Given the description of an element on the screen output the (x, y) to click on. 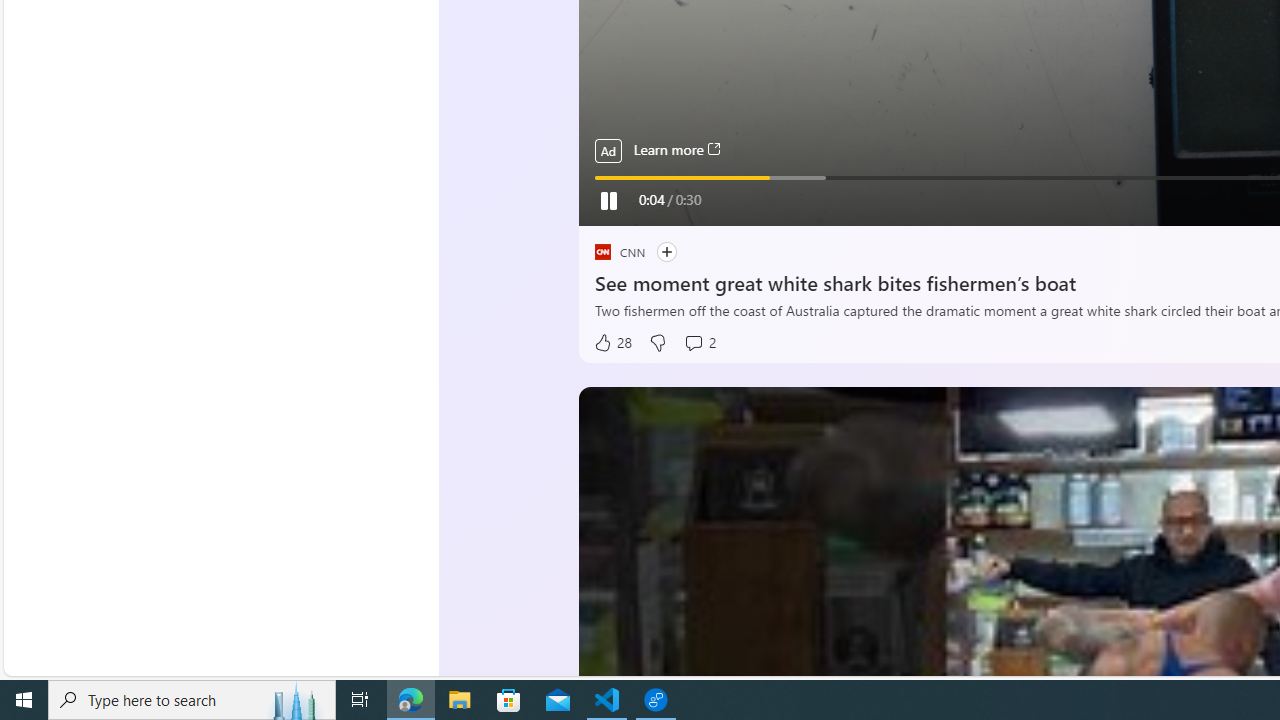
Learn more (676, 150)
Pause (607, 200)
28 Like (611, 343)
Follow (666, 251)
placeholder (601, 252)
View comments 2 Comment (699, 343)
